Given the description of an element on the screen output the (x, y) to click on. 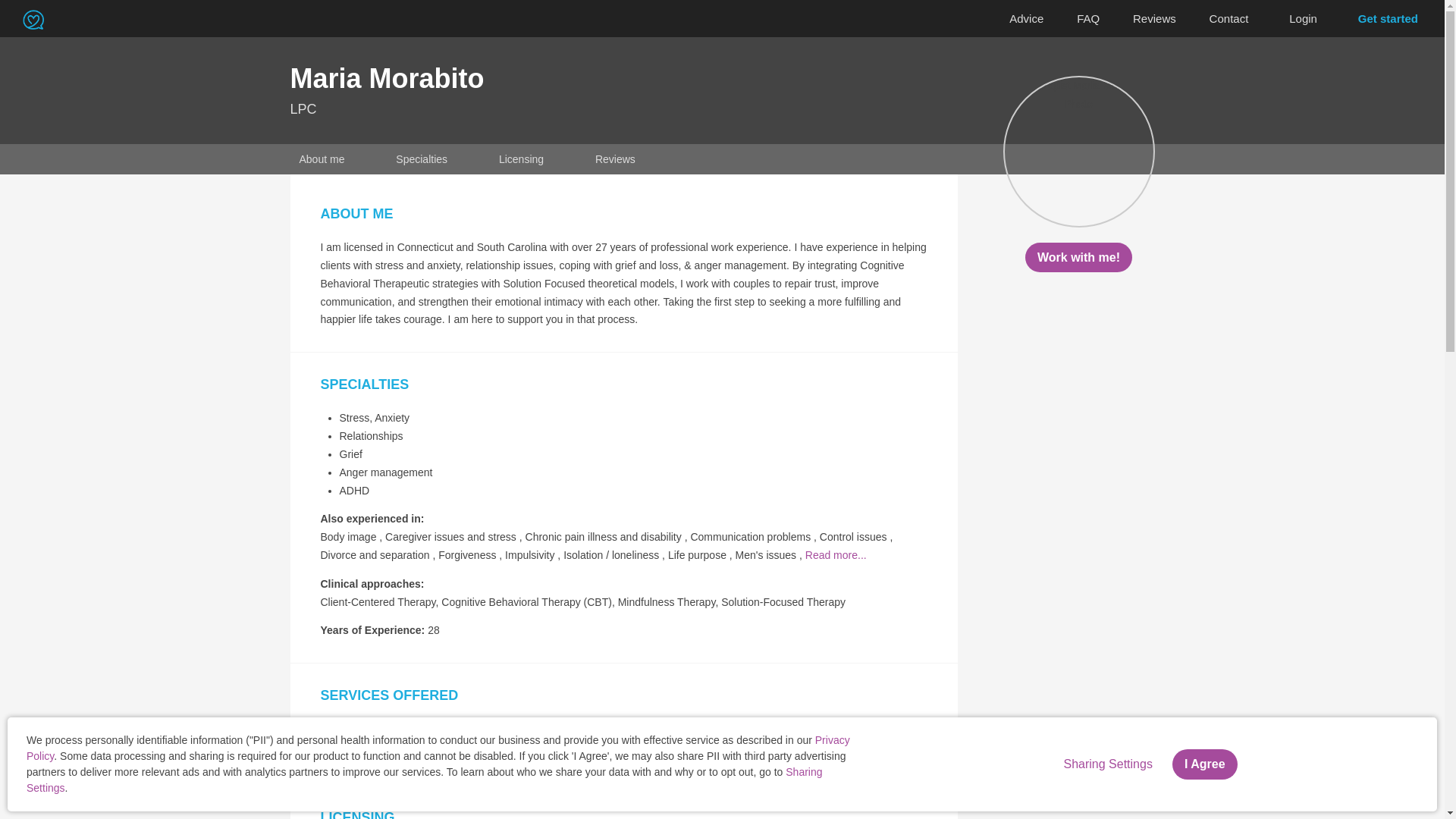
Contact (1228, 19)
Sharing Settings (424, 779)
Get started (1387, 18)
Sharing Settings (1107, 763)
Read more... (835, 554)
Reviews (615, 159)
Specialties (422, 159)
I Agree (1204, 763)
Privacy Policy (438, 747)
Reviews (1154, 19)
